Given the description of an element on the screen output the (x, y) to click on. 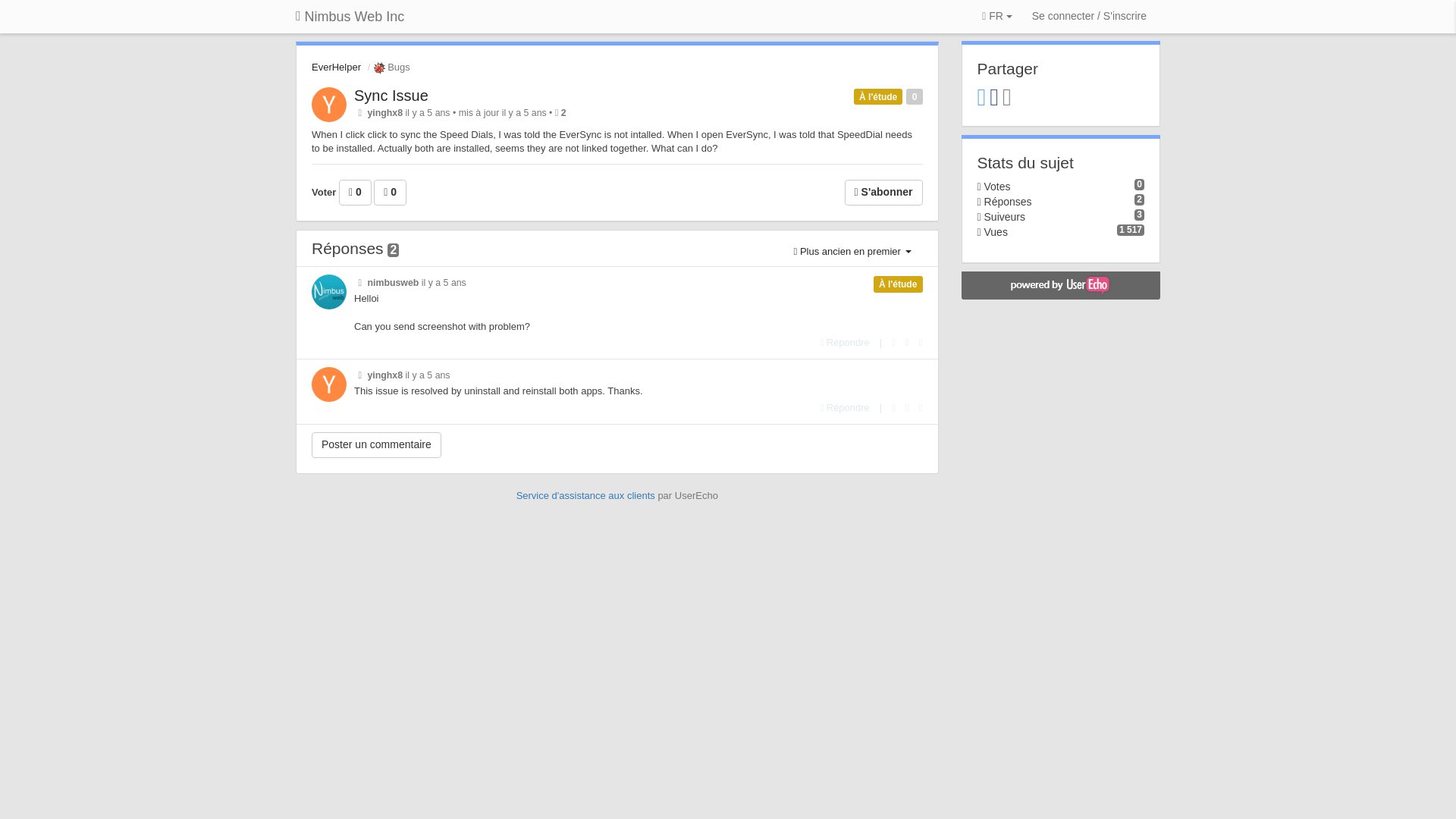
Sync Issue (390, 95)
S'abonner (883, 192)
Nimbus Web Inc (348, 16)
Plus ancien en premier (853, 251)
FR (996, 16)
Bugs (389, 66)
Poster un commentaire (376, 444)
0 (355, 192)
0 (390, 192)
EverHelper (336, 66)
yinghx8 (384, 112)
